Given the description of an element on the screen output the (x, y) to click on. 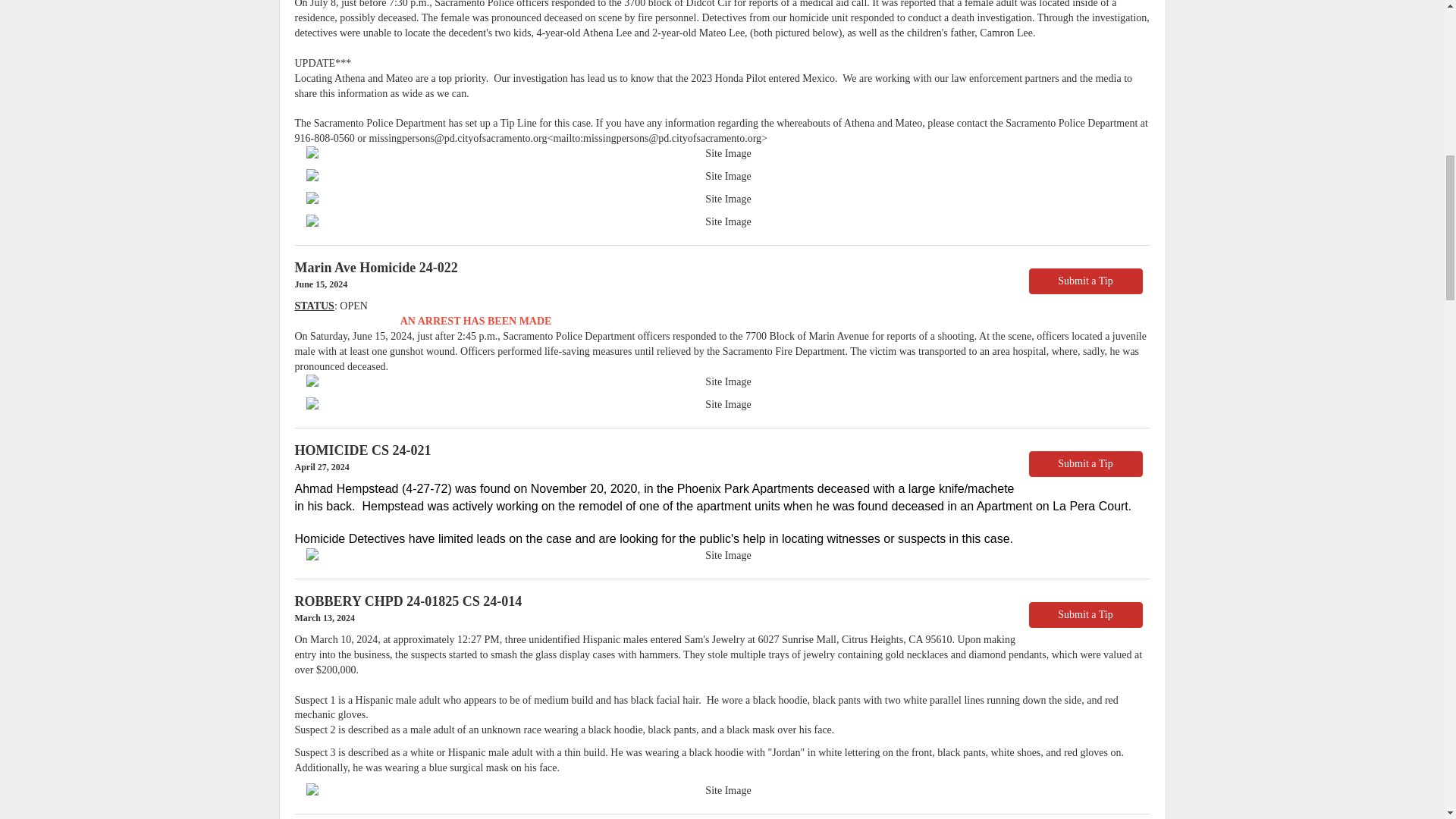
Click to Enlarge (721, 153)
Click to Enlarge (721, 381)
Click to Enlarge (721, 555)
Click to Enlarge (721, 790)
